Given the description of an element on the screen output the (x, y) to click on. 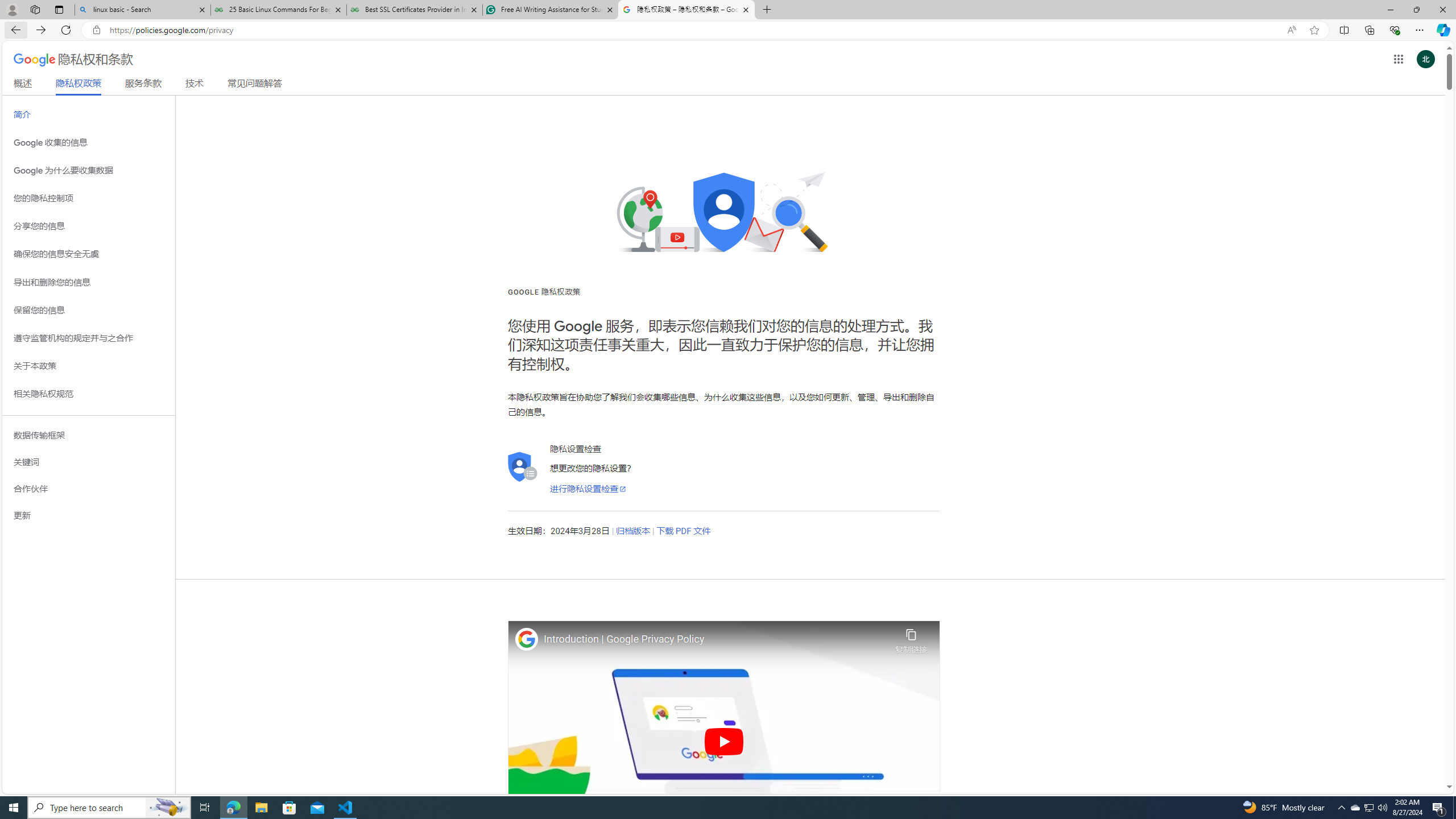
Class: gb_E (1398, 59)
Personal Profile (12, 9)
Collections (1369, 29)
Free AI Writing Assistance for Students | Grammarly (550, 9)
Split screen (1344, 29)
